Given the description of an element on the screen output the (x, y) to click on. 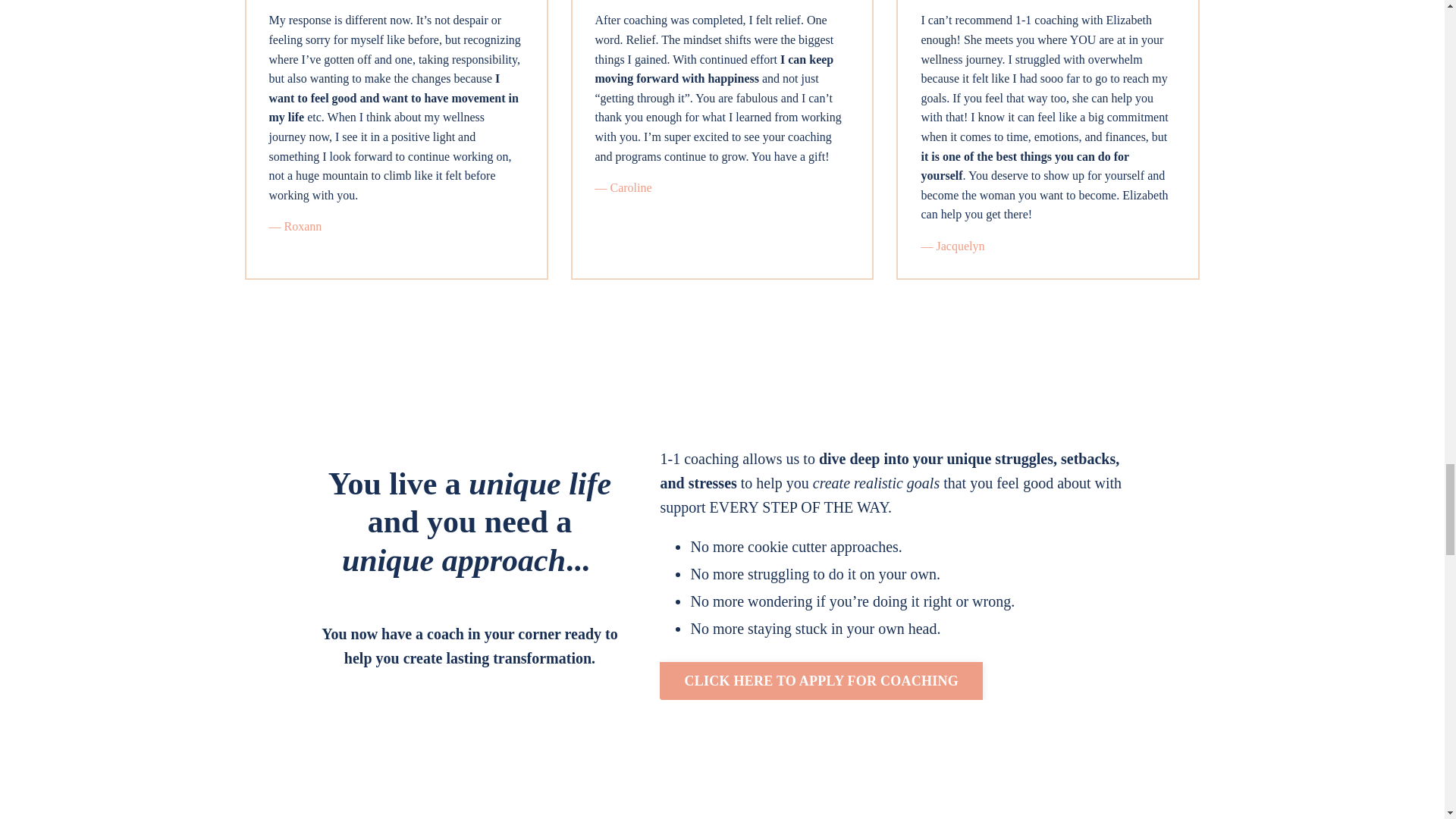
CLICK HERE TO APPLY FOR COACHING (820, 680)
